Given the description of an element on the screen output the (x, y) to click on. 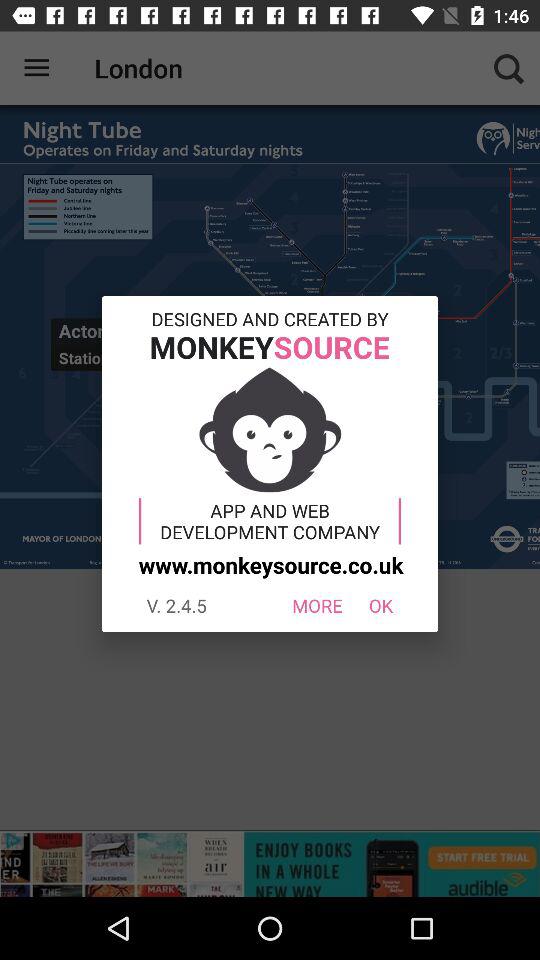
choose the icon to the right of the v 2 4 icon (316, 605)
